Given the description of an element on the screen output the (x, y) to click on. 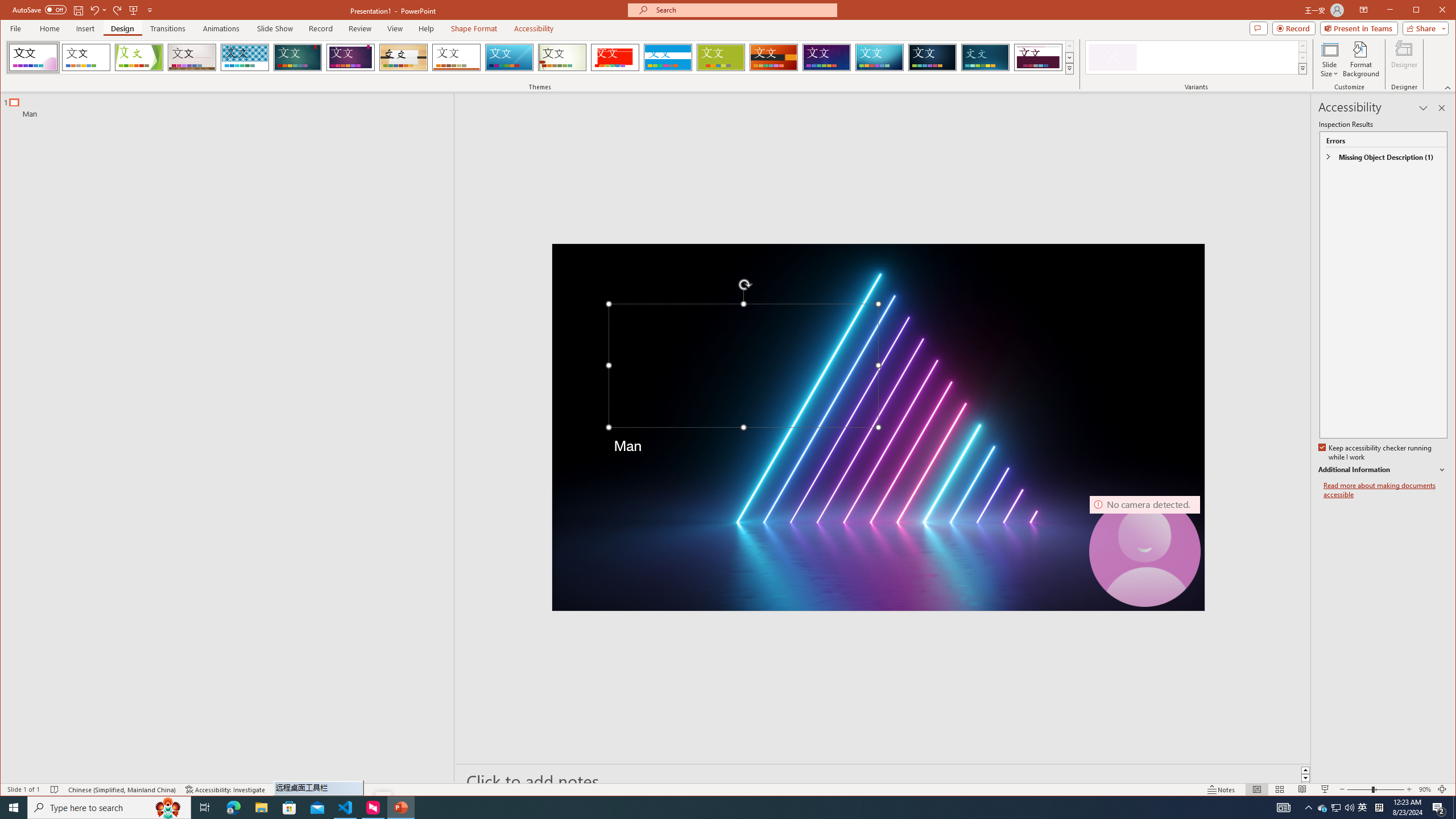
Retrospect (456, 57)
Dividend (1037, 57)
Celestial (826, 57)
Wisp (561, 57)
AutomationID: SlideThemesGallery (540, 57)
